Given the description of an element on the screen output the (x, y) to click on. 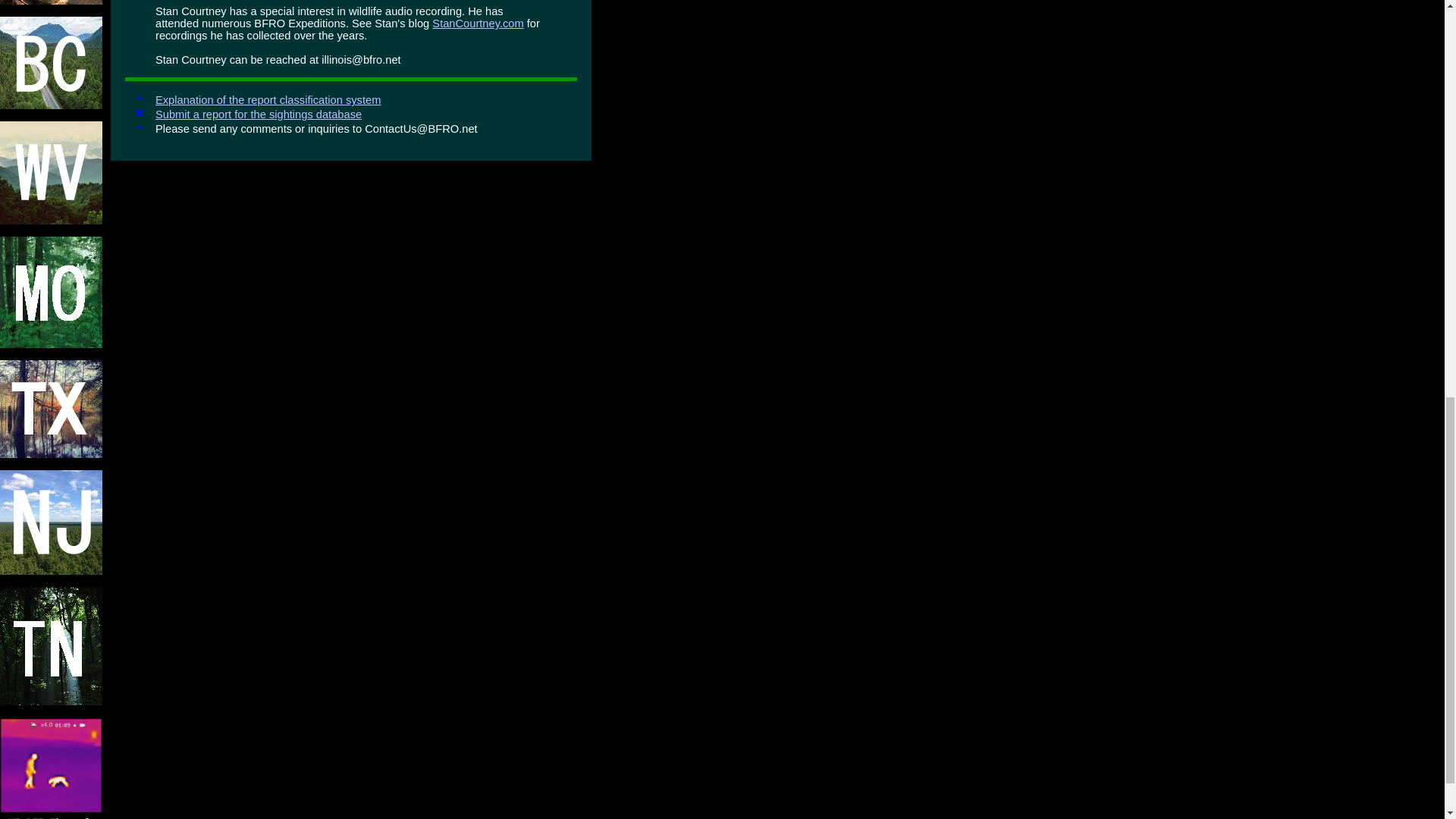
StanCourtney.com (477, 23)
Submit a report for the sightings database (258, 114)
Explanation of the report classification system (267, 100)
